Given the description of an element on the screen output the (x, y) to click on. 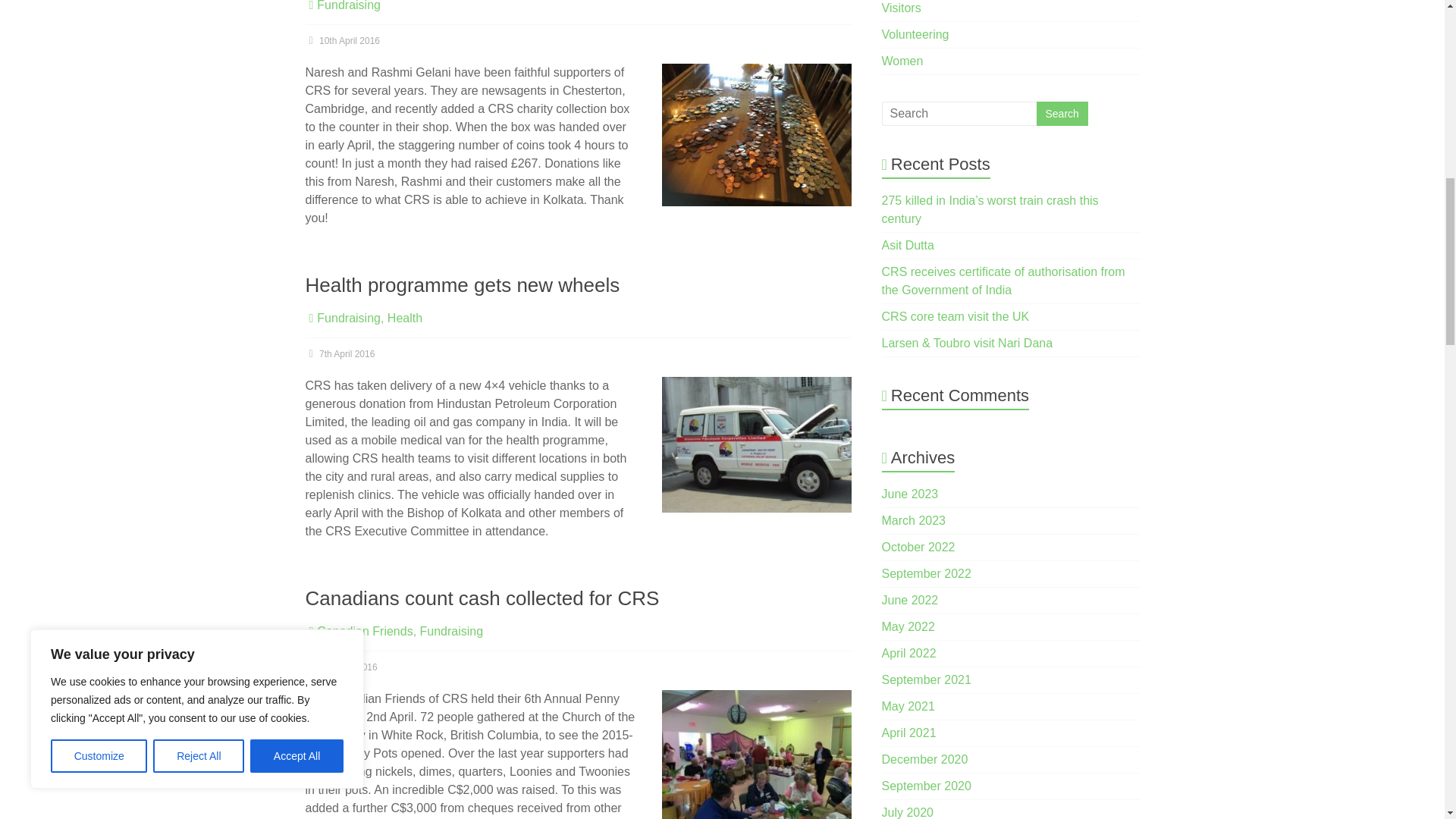
Health programme gets new wheels (462, 284)
8:32 pm (340, 666)
8:30 pm (339, 353)
Canadians count cash collected for CRS (481, 598)
8:31 pm (342, 40)
Search (1061, 113)
